Given the description of an element on the screen output the (x, y) to click on. 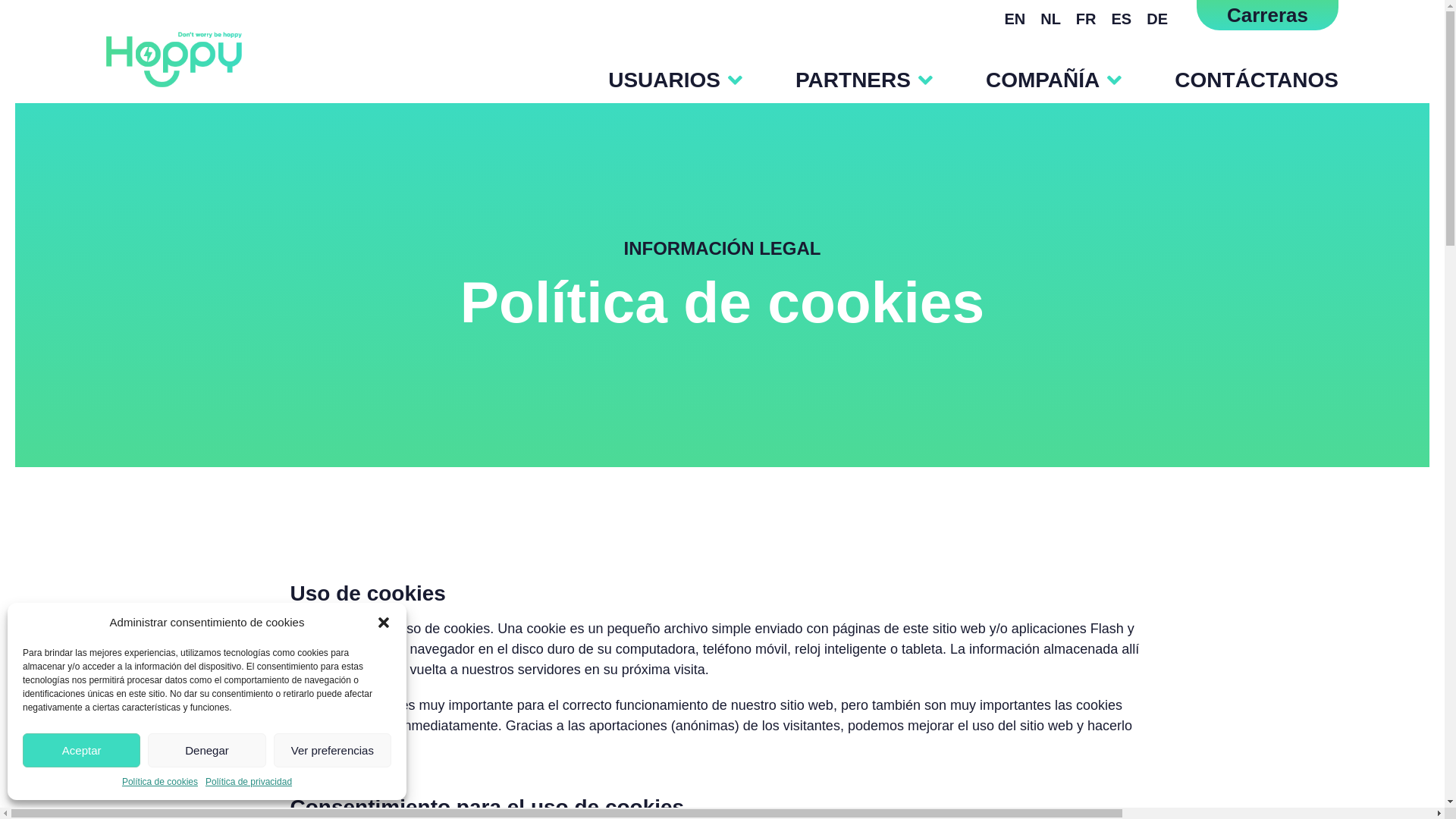
Denegar Element type: text (206, 750)
EN Element type: text (1014, 18)
FR Element type: text (1086, 18)
NL Element type: text (1050, 18)
Carreras Element type: text (1267, 14)
ES Element type: text (1121, 18)
Aceptar Element type: text (81, 750)
DE Element type: text (1157, 18)
PARTNERS Element type: text (837, 80)
Ver preferencias Element type: text (332, 750)
USUARIOS Element type: text (648, 80)
